Given the description of an element on the screen output the (x, y) to click on. 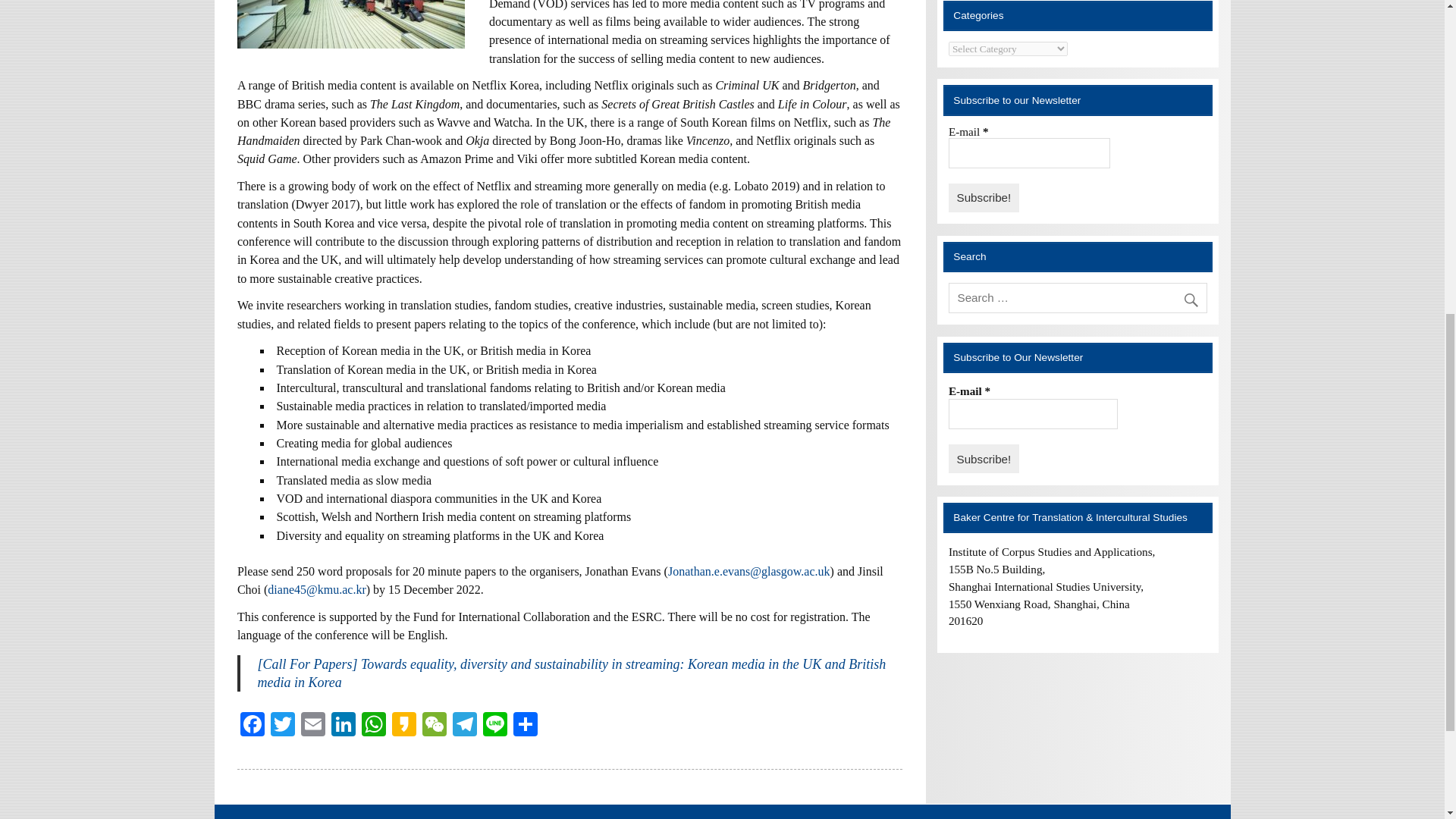
Twitter (282, 725)
Telegram (464, 725)
Kakao (403, 725)
LinkedIn (343, 725)
WeChat (434, 725)
Line (495, 725)
Twitter (282, 725)
WhatsApp (373, 725)
Facebook (252, 725)
Subscribe! (984, 197)
E-mail (1029, 153)
Subscribe! (984, 458)
E-mail (1033, 413)
Email (313, 725)
Facebook (252, 725)
